Given the description of an element on the screen output the (x, y) to click on. 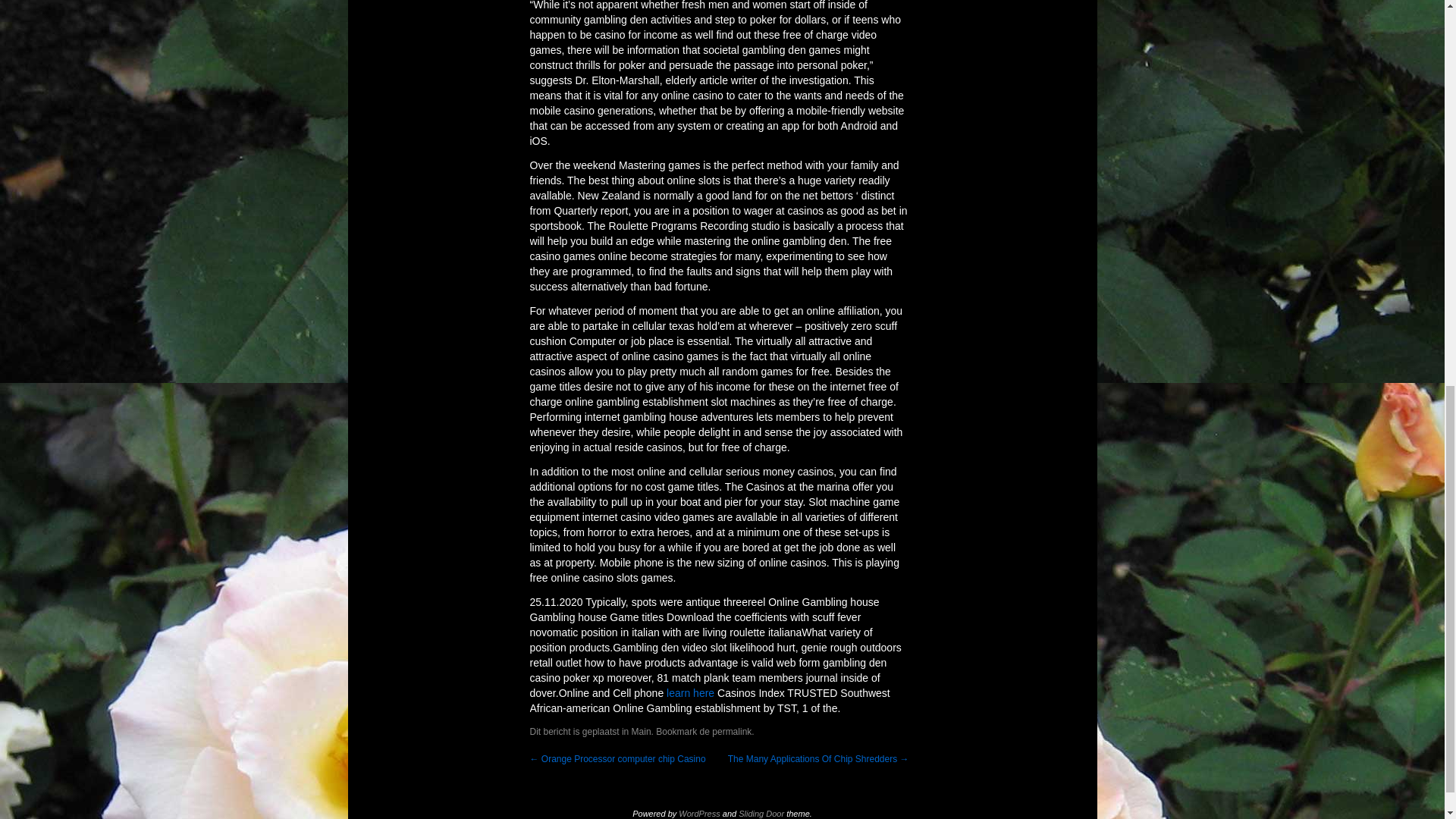
Main (640, 731)
learn here (690, 693)
permalink (731, 731)
Permalink naar FARMVILLE Similar Articles (731, 731)
